Given the description of an element on the screen output the (x, y) to click on. 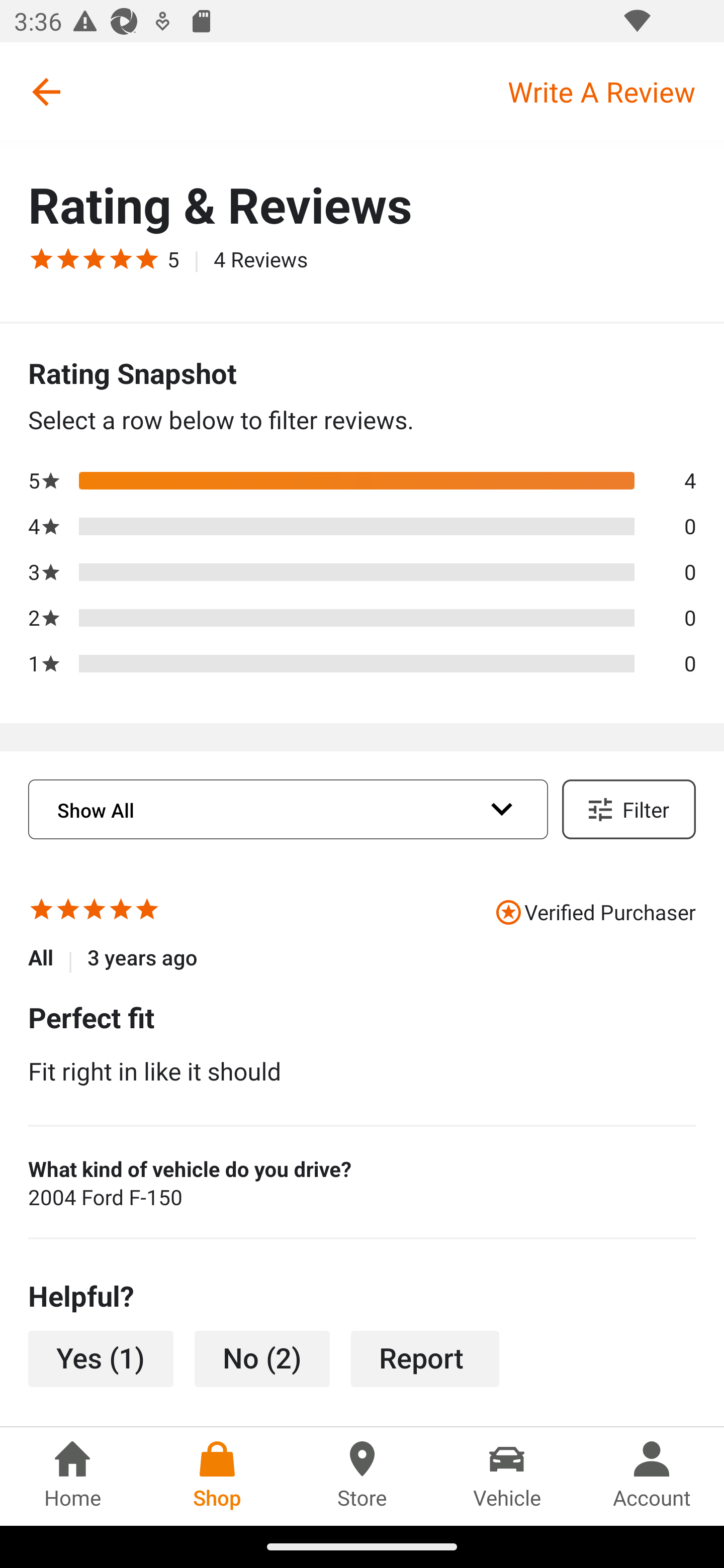
Go back (45, 91)
Write A Review (615, 91)
 (41, 258)
 (68, 258)
 (94, 258)
 (120, 258)
 (146, 258)
4 Reviews (260, 258)
5  4 (361, 479)
4  0 (361, 526)
3  0 (361, 572)
2  0 (361, 617)
1  0 (361, 663)
review-filter-icon-button Filter (628, 808)
collapsed Show All  (287, 809)
 (41, 911)
 (68, 911)
 (94, 911)
 (120, 911)
 (146, 911)
Yes (1) (100, 1359)
No (2) (262, 1359)
Report  (425, 1359)
Home (72, 1475)
Shop (216, 1475)
Store (361, 1475)
Vehicle (506, 1475)
Account (651, 1475)
